Given the description of an element on the screen output the (x, y) to click on. 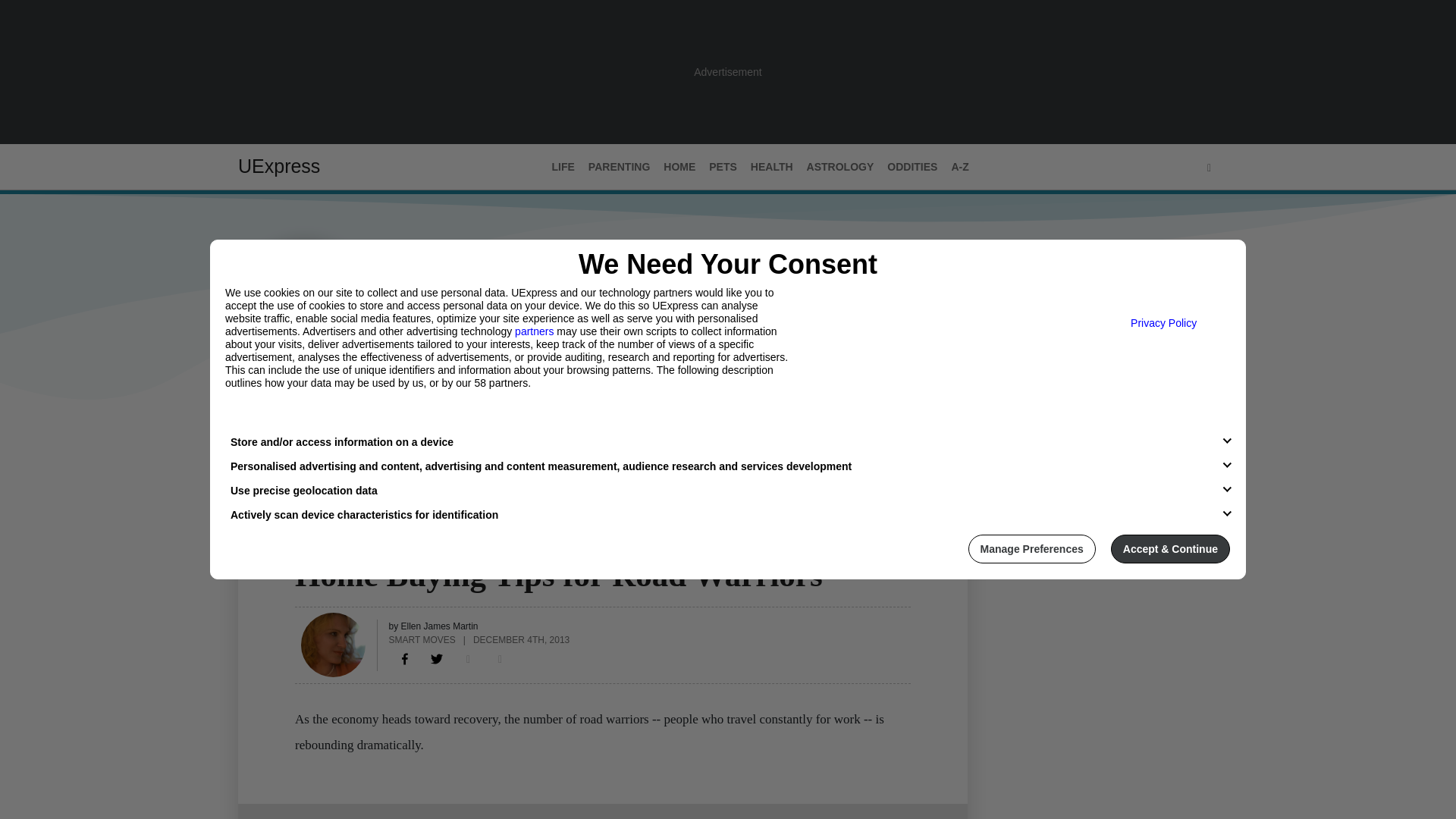
ODDITIES (911, 166)
Latest (256, 431)
Archives (371, 431)
SMART MOVES (421, 639)
Home Buying Tips for Road Warriors (404, 658)
PARENTING (618, 166)
PETS (722, 166)
A-Z (959, 166)
ASTROLOGY (839, 166)
HOME (310, 545)
HEALTH (771, 166)
About (309, 431)
HOME (678, 166)
UExpress (279, 166)
LIFE (562, 166)
